Given the description of an element on the screen output the (x, y) to click on. 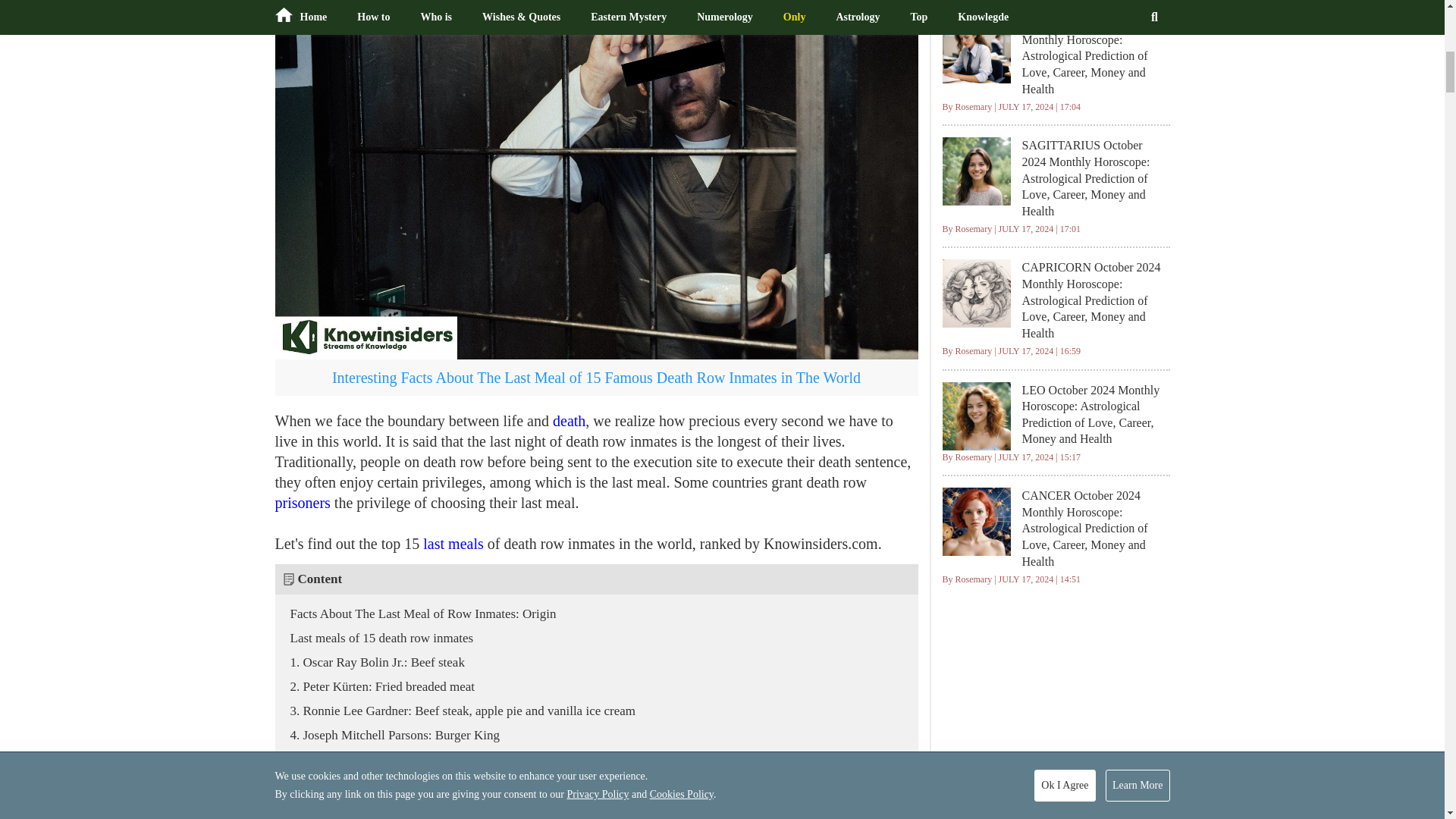
Facts About The Last Meal of Row Inmates: Origin (415, 613)
last meals (453, 543)
prisoners (304, 502)
Last meals of 15 death row inmates (374, 637)
death (569, 420)
1. Oscar Ray Bolin Jr.: Beef steak (369, 662)
